Given the description of an element on the screen output the (x, y) to click on. 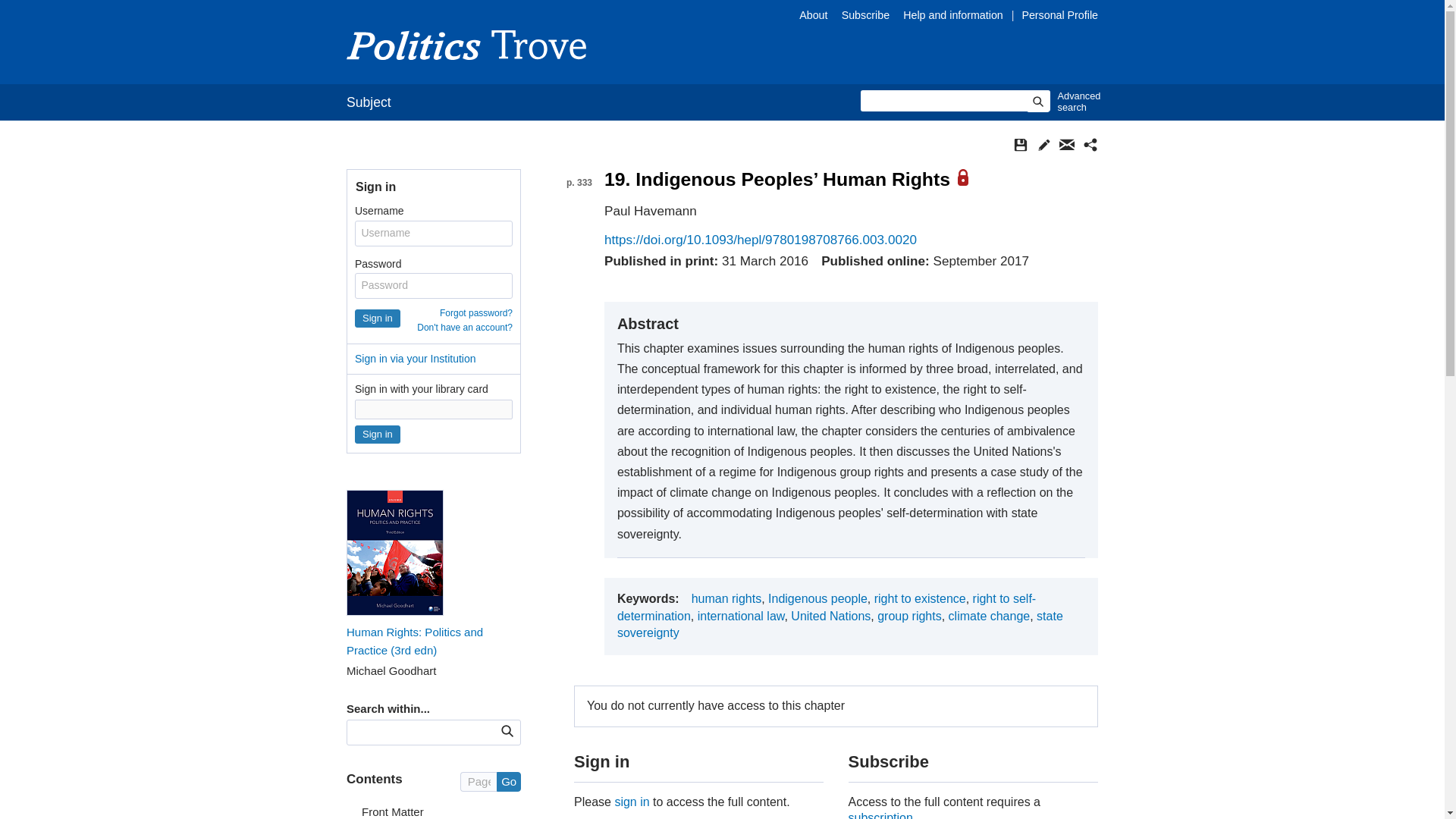
Sign in (377, 318)
Email Page (1066, 144)
Subscribe (865, 15)
Politics Trove (466, 44)
Personal Profile (1059, 15)
Search (1037, 101)
Sign in (377, 434)
Go (508, 781)
Search (507, 730)
About (812, 15)
Save (1020, 144)
Forgot password? (475, 312)
Jump to Content (55, 11)
Subject (368, 102)
GO (507, 730)
